Given the description of an element on the screen output the (x, y) to click on. 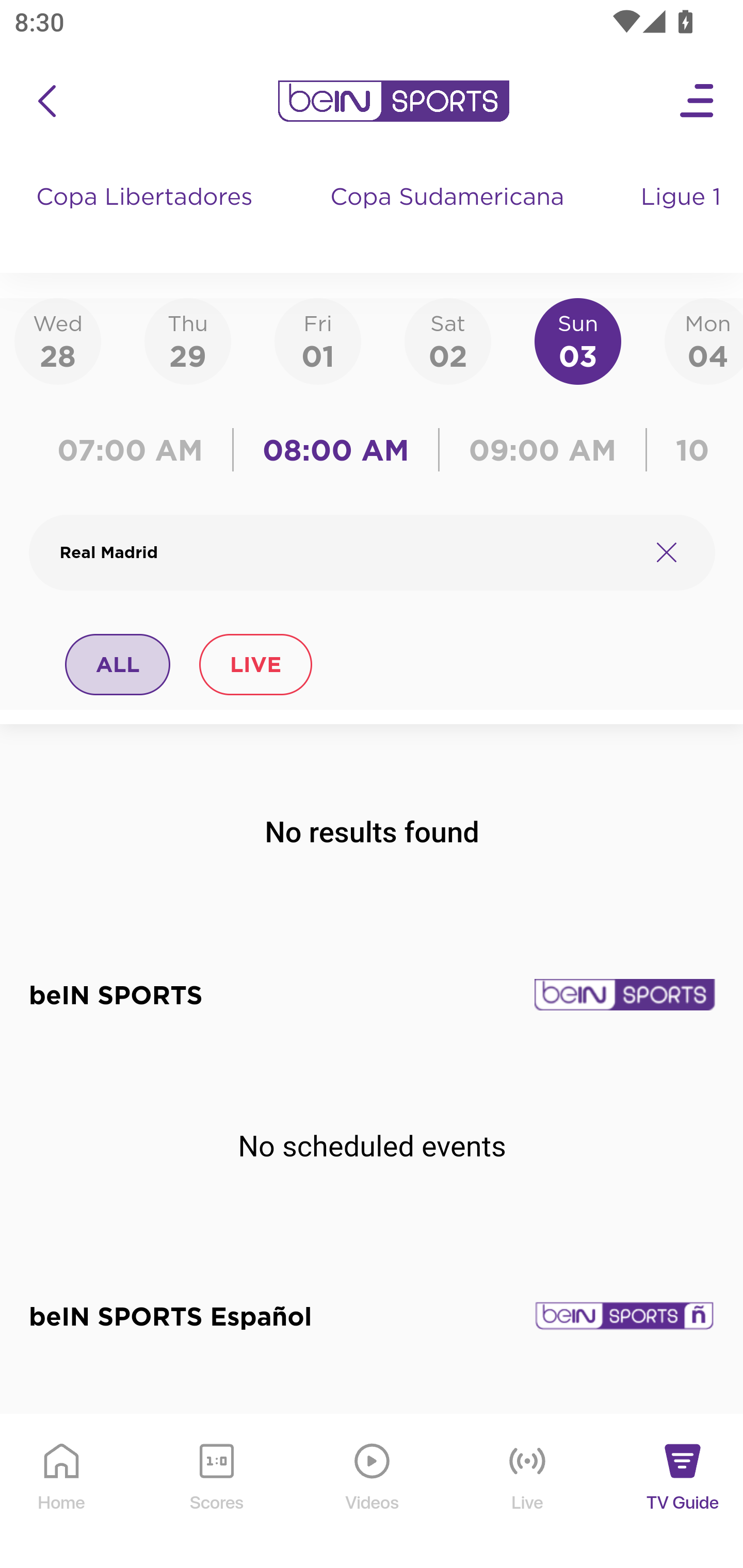
en-us?platform=mobile_android bein logo (392, 101)
icon back (46, 101)
Open Menu Icon (697, 101)
Copa Libertadores (146, 216)
Copa Sudamericana (448, 216)
Ligue 1 (682, 216)
Wed28 (58, 340)
Thu29 (187, 340)
Fri01 (318, 340)
Sat02 (447, 340)
Sun03 (578, 340)
Mon04 (703, 340)
07:00 AM (135, 449)
08:00 AM (336, 449)
09:00 AM (542, 449)
Real Madrid (346, 552)
ALL (118, 663)
LIVE (255, 663)
Home Home Icon Home (61, 1491)
Scores Scores Icon Scores (216, 1491)
Videos Videos Icon Videos (372, 1491)
TV Guide TV Guide Icon TV Guide (682, 1491)
